Given the description of an element on the screen output the (x, y) to click on. 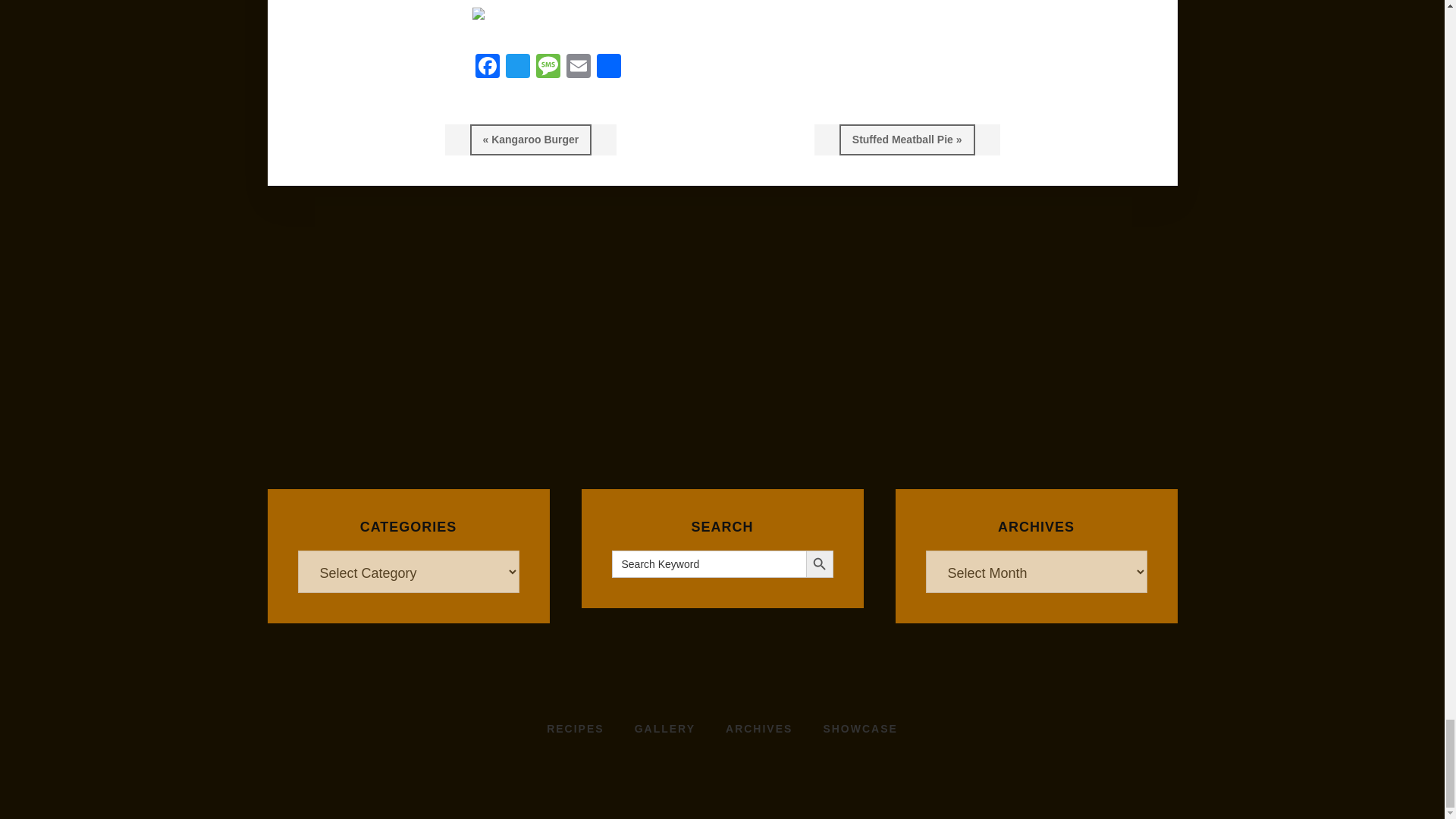
Email (577, 67)
Message (547, 67)
Share (607, 67)
Facebook (486, 67)
RECIPES (574, 728)
Message (547, 67)
Twitter (517, 67)
Twitter (517, 67)
Email (577, 67)
Facebook (486, 67)
SEARCH BUTTON (818, 564)
